Given the description of an element on the screen output the (x, y) to click on. 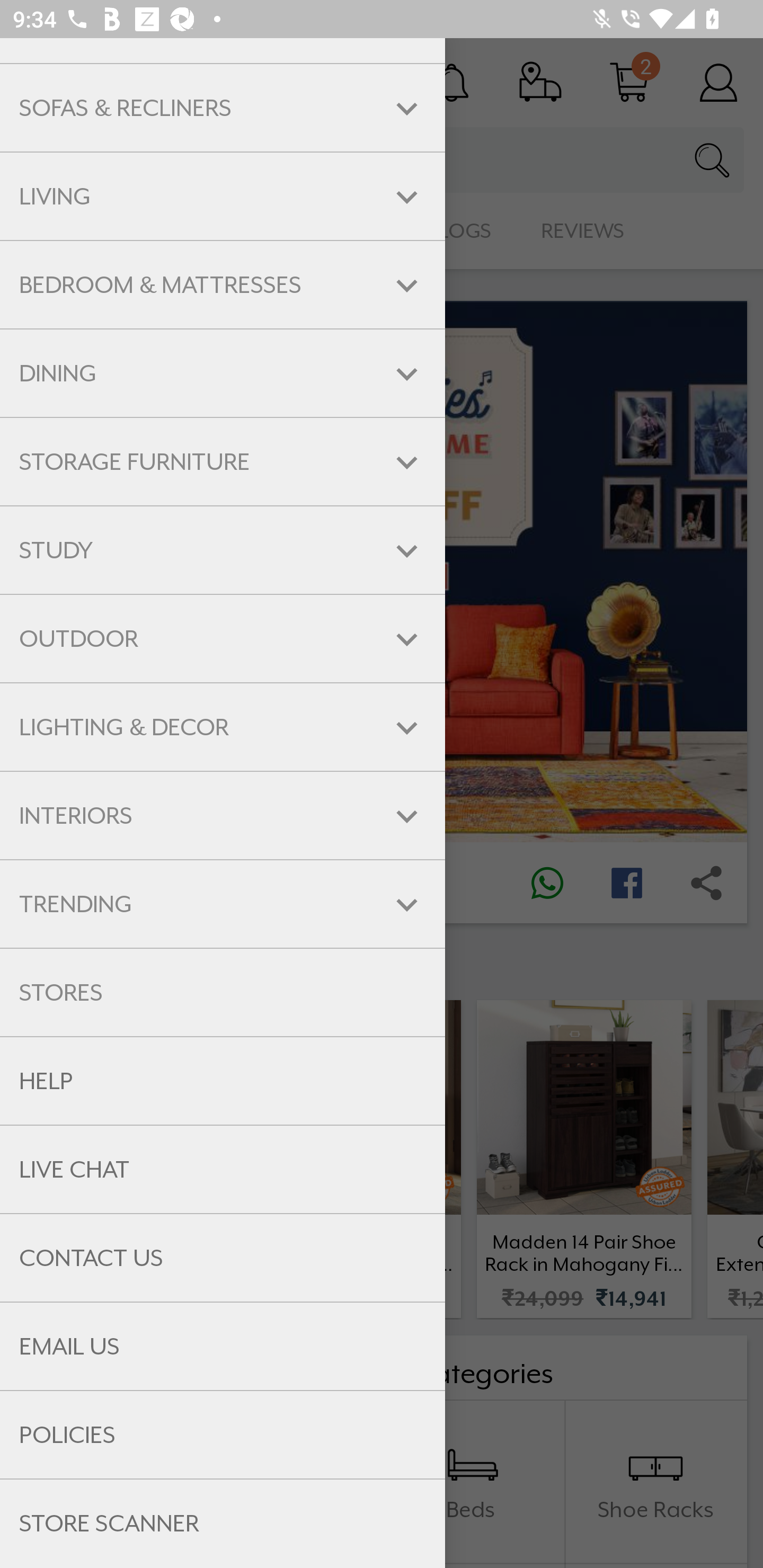
SOFAS & RECLINERS  (222, 108)
LIVING  (222, 196)
BEDROOM & MATTRESSES  (222, 284)
DINING  (222, 373)
STORAGE FURNITURE  (222, 461)
STUDY  (222, 550)
OUTDOOR  (222, 638)
LIGHTING & DECOR  (222, 726)
INTERIORS  (222, 815)
TRENDING  (222, 903)
STORES (222, 992)
HELP (222, 1080)
LIVE CHAT (222, 1169)
CONTACT US (222, 1258)
EMAIL US (222, 1345)
POLICIES (222, 1435)
STORE SCANNER (222, 1523)
